Given the description of an element on the screen output the (x, y) to click on. 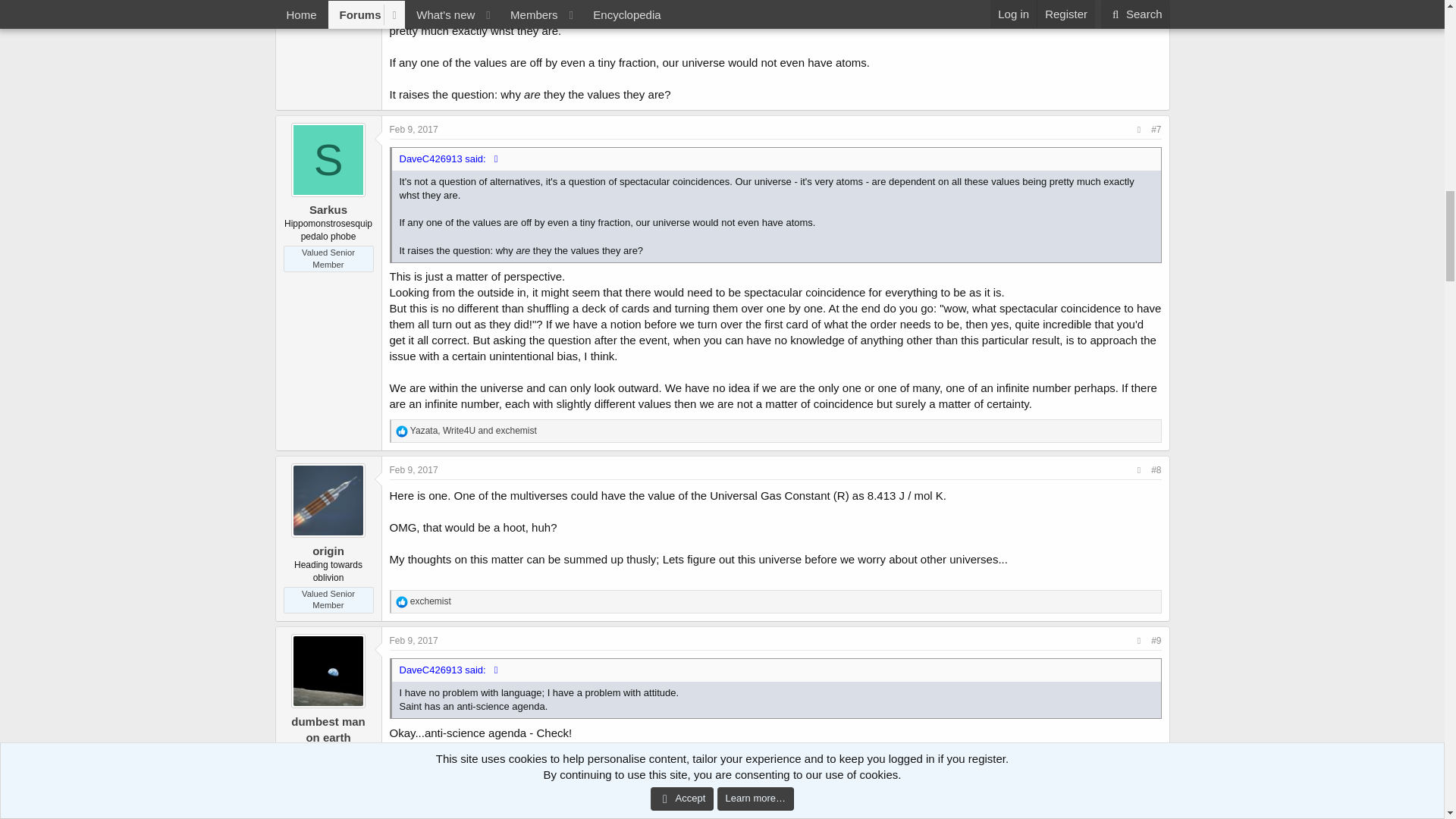
Feb 9, 2017 at 3:46 PM (414, 129)
Like (401, 602)
Feb 9, 2017 at 4:01 PM (414, 640)
Like (401, 431)
Feb 9, 2017 at 3:57 PM (414, 470)
